Given the description of an element on the screen output the (x, y) to click on. 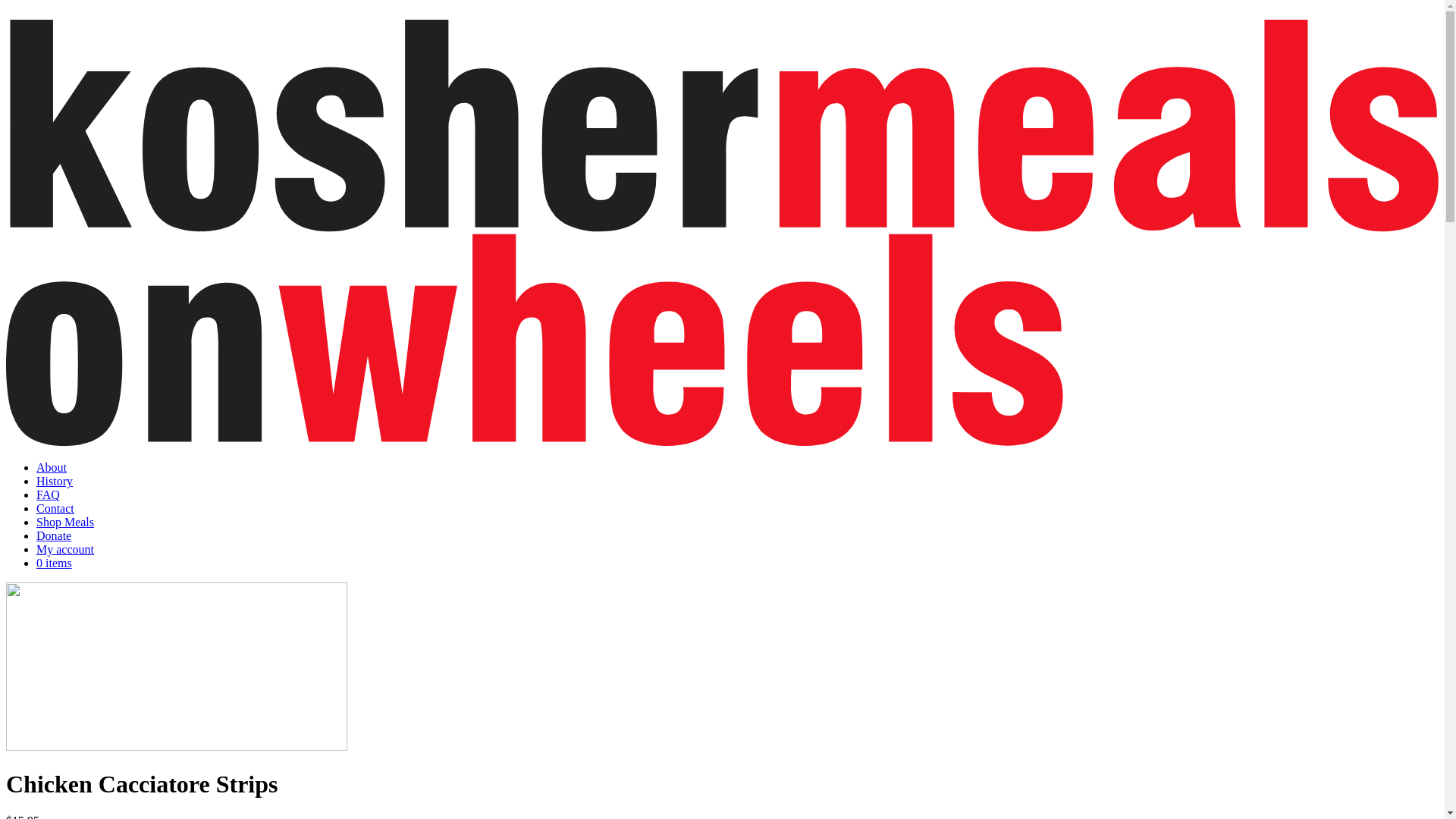
My account Element type: text (65, 548)
0 items Element type: text (54, 562)
About Element type: text (51, 467)
Shop Meals Element type: text (65, 521)
Contact Element type: text (55, 508)
Donate Element type: text (53, 535)
FAQ Element type: text (47, 494)
History Element type: text (54, 480)
